Given the description of an element on the screen output the (x, y) to click on. 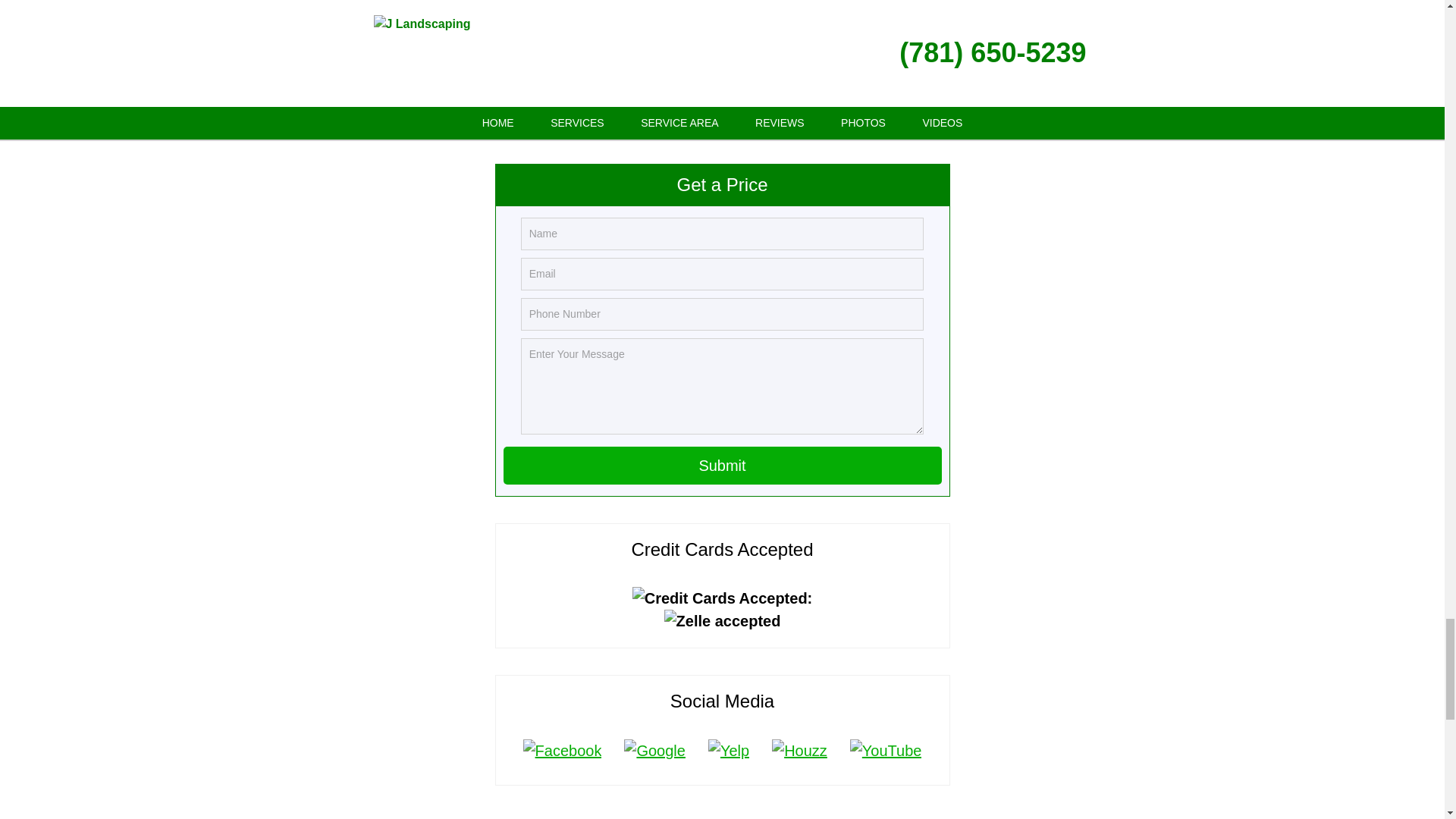
Submit (722, 465)
Yelp (728, 750)
Facebook (562, 750)
Houzz (799, 750)
Google (654, 750)
YouTube (885, 750)
